Given the description of an element on the screen output the (x, y) to click on. 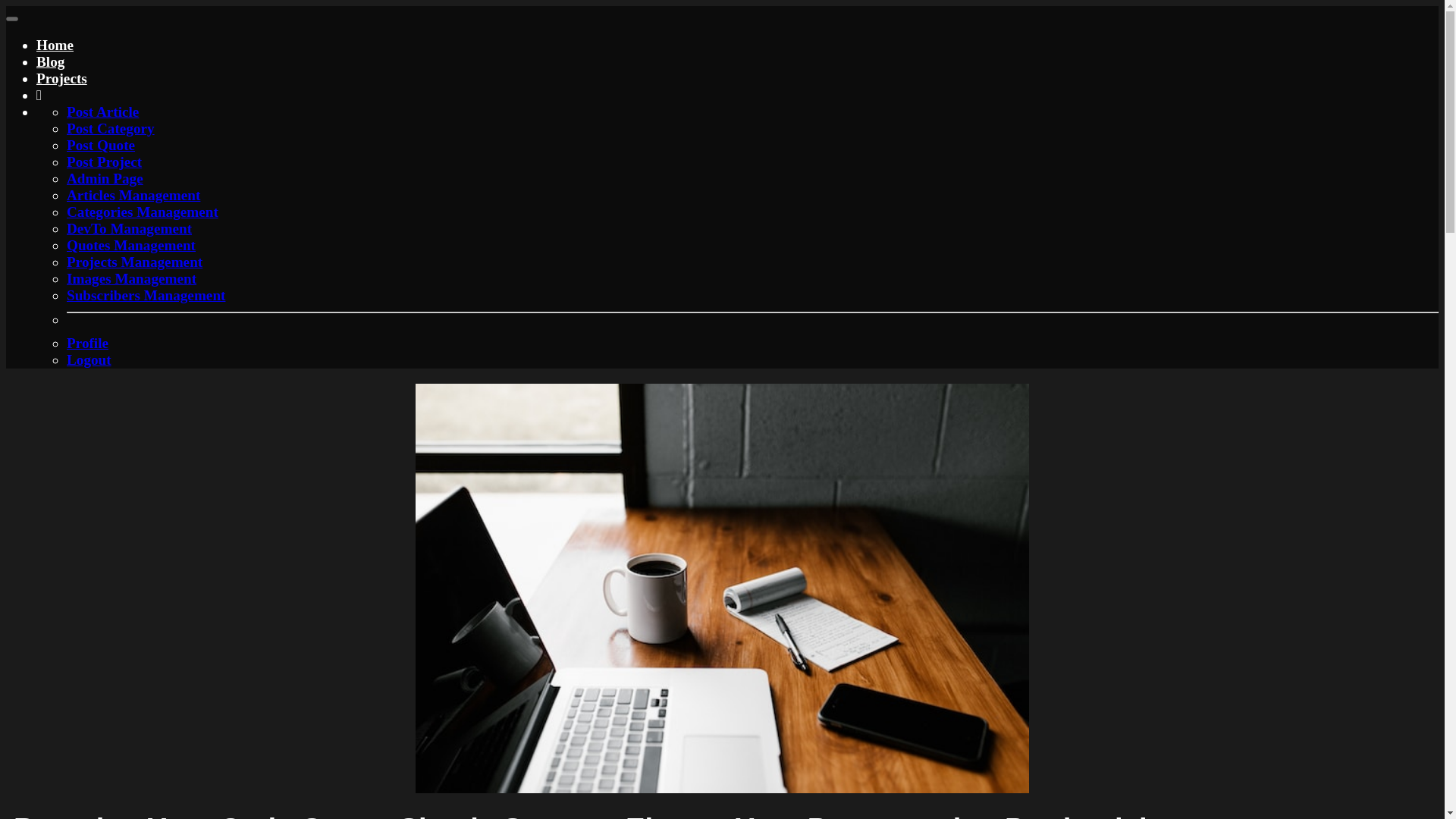
Post Quote (100, 145)
Articles Management (133, 195)
Subscribers Management (145, 295)
Images Management (131, 278)
Blog (50, 61)
Post Category (110, 128)
Home (55, 44)
Projects Management (134, 261)
Post Project (103, 161)
Quotes Management (130, 245)
Categories Management (142, 211)
DevTo Management (129, 228)
Profile (86, 342)
Projects (61, 78)
Admin Page (104, 178)
